Given the description of an element on the screen output the (x, y) to click on. 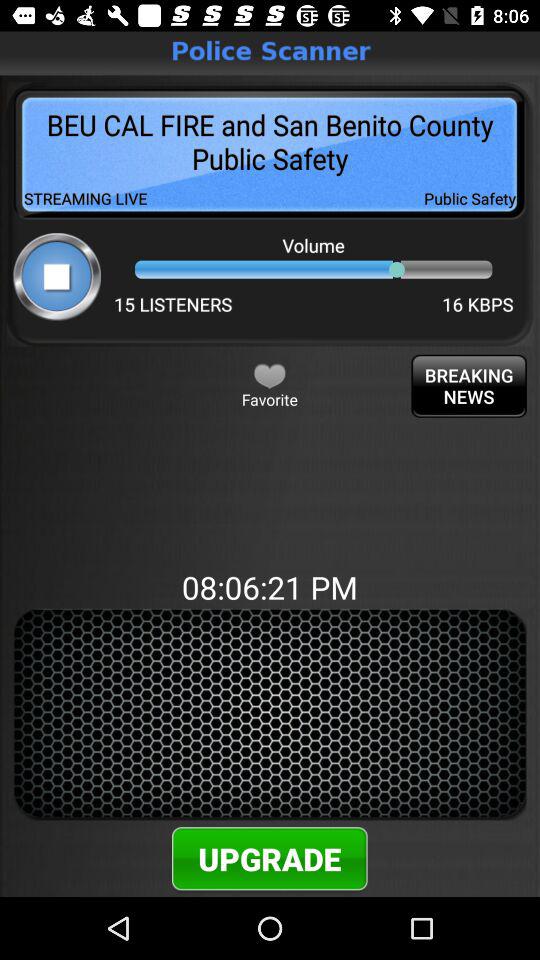
click app above favorite icon (269, 375)
